Given the description of an element on the screen output the (x, y) to click on. 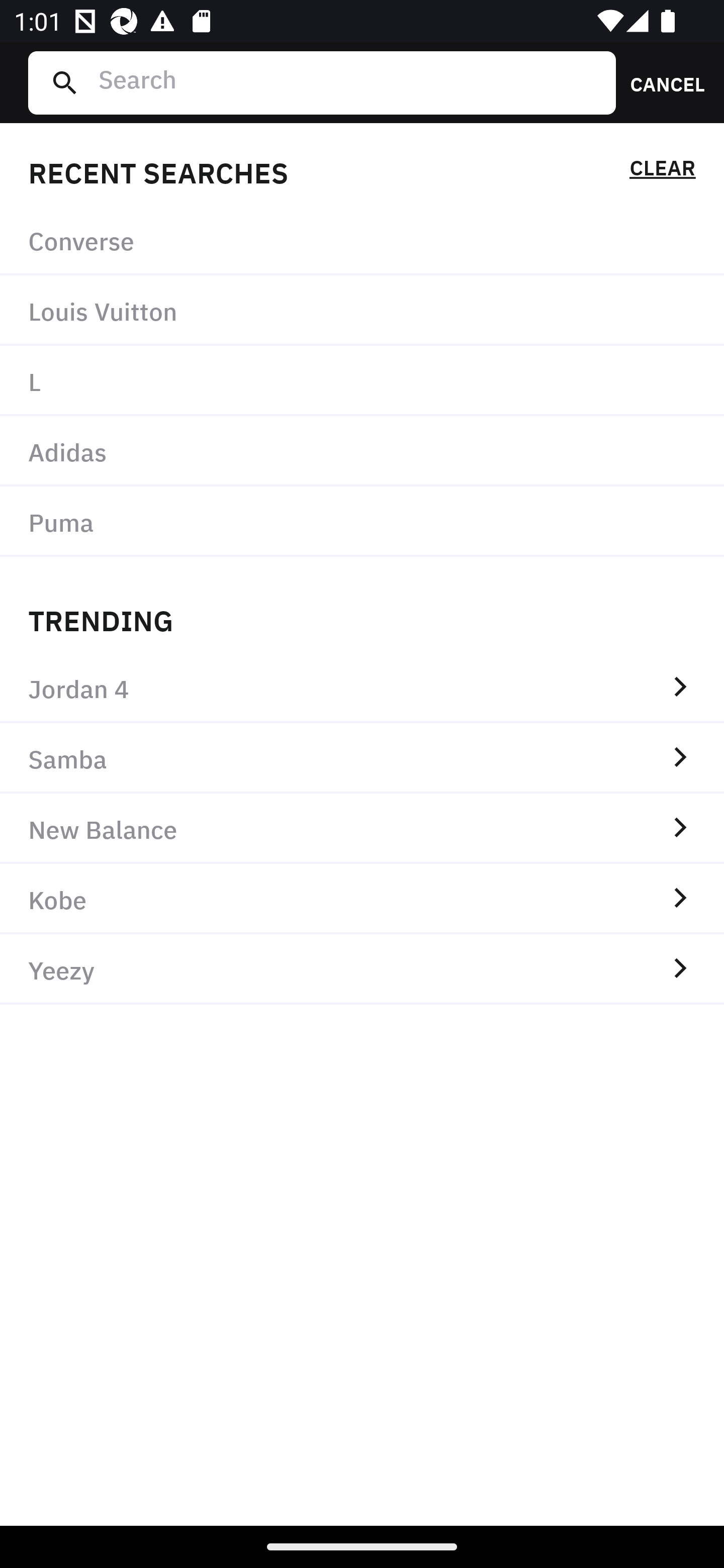
CANCEL (660, 82)
Search (349, 82)
CLEAR (662, 170)
Converse (362, 240)
Louis Vuitton (362, 310)
L (362, 380)
Adidas (362, 450)
Puma (362, 521)
Jordan 4  (362, 687)
Samba  (362, 757)
New Balance  (362, 828)
Kobe  (362, 898)
Yeezy  (362, 969)
